Given the description of an element on the screen output the (x, y) to click on. 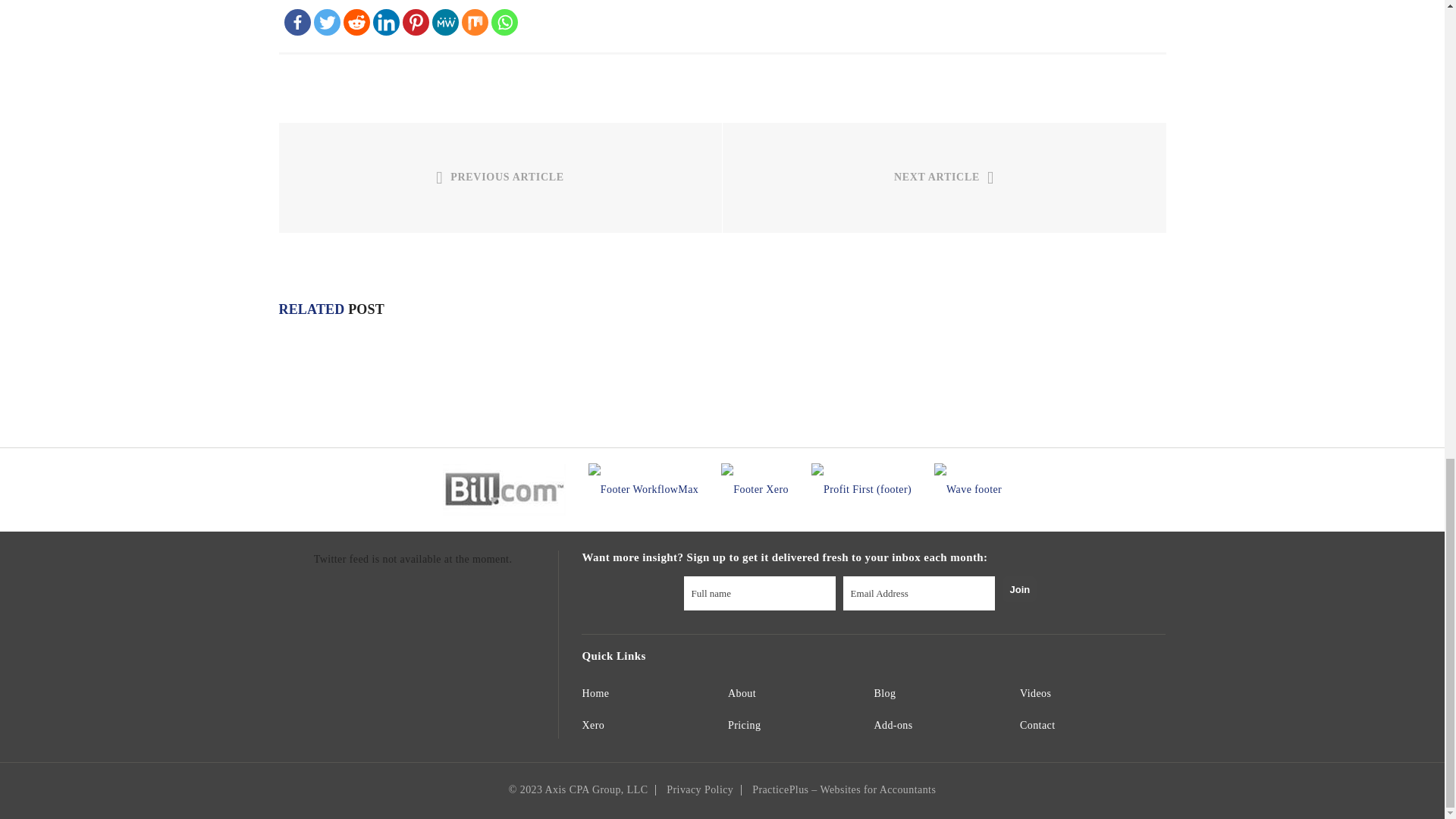
MeWe (445, 22)
Reddit (355, 22)
Whatsapp (505, 22)
Join (1019, 588)
Facebook (296, 22)
Twitter (327, 22)
Linkedin (385, 22)
Mix (474, 22)
Pinterest (414, 22)
